Given the description of an element on the screen output the (x, y) to click on. 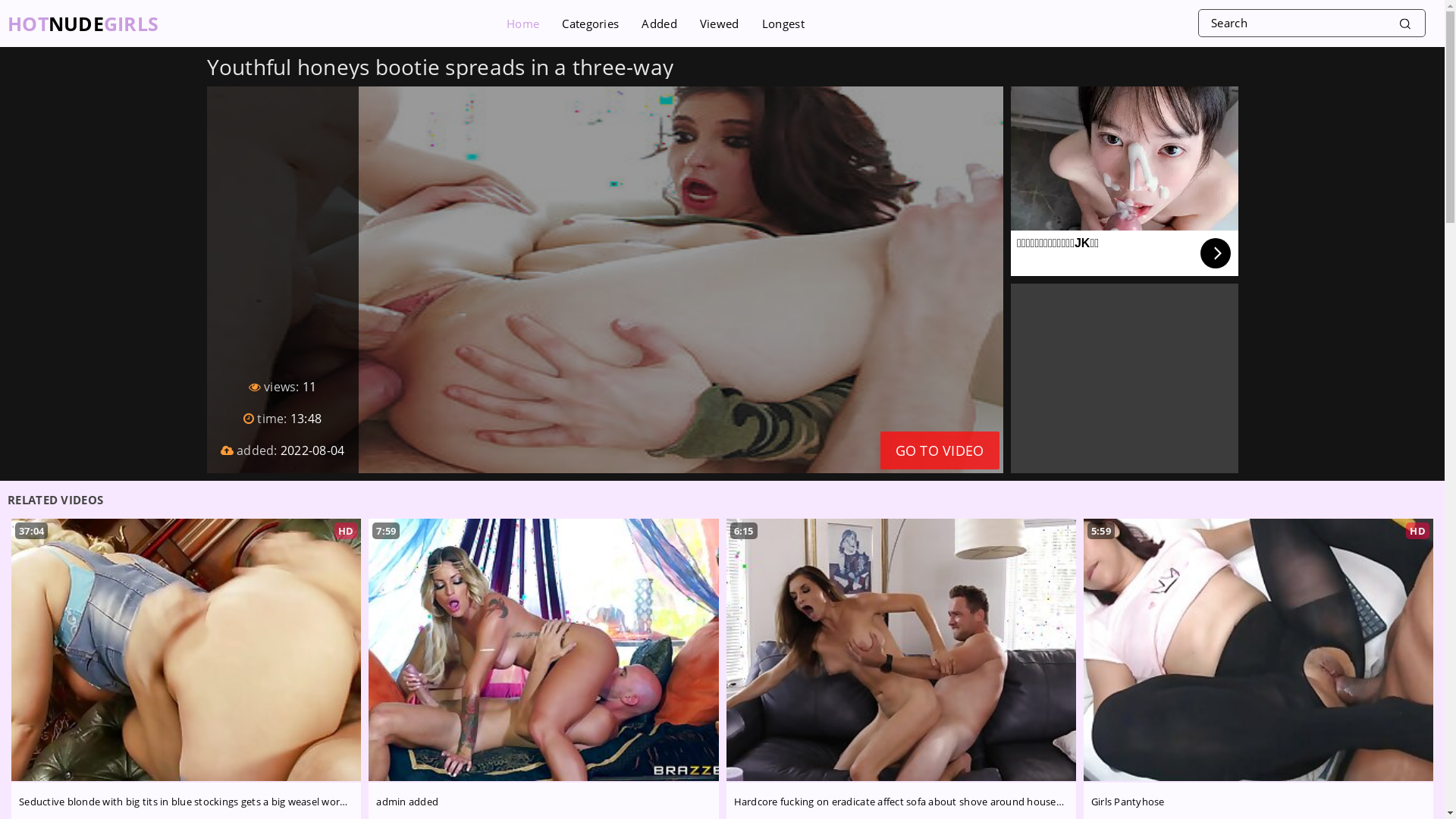
5:59
HD Element type: text (1258, 650)
Viewed Element type: text (719, 23)
Longest Element type: text (782, 23)
37:04
HD Element type: text (185, 650)
7:59 Element type: text (543, 650)
Home Element type: text (522, 23)
Categories Element type: text (590, 23)
HOTNUDEGIRLS Element type: text (65, 23)
GO TO VIDEO
views: 11
time: 13:48
added: 2022-08-04 Element type: text (604, 279)
6:15 Element type: text (901, 650)
Added Element type: text (659, 23)
